Given the description of an element on the screen output the (x, y) to click on. 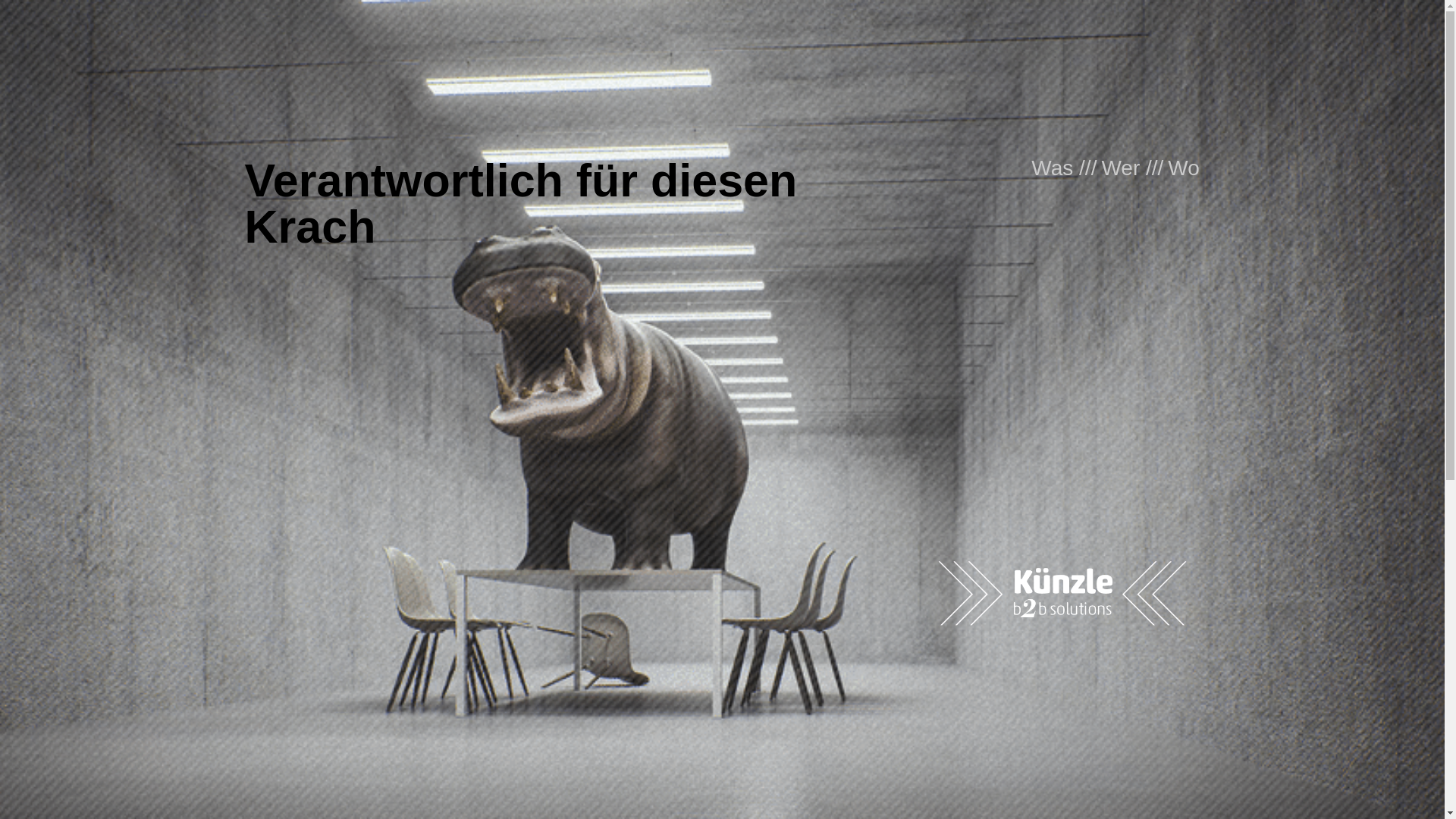
Was /// Element type: text (1063, 168)
Wo Element type: text (1183, 168)
Wer /// Element type: text (1132, 168)
